Given the description of an element on the screen output the (x, y) to click on. 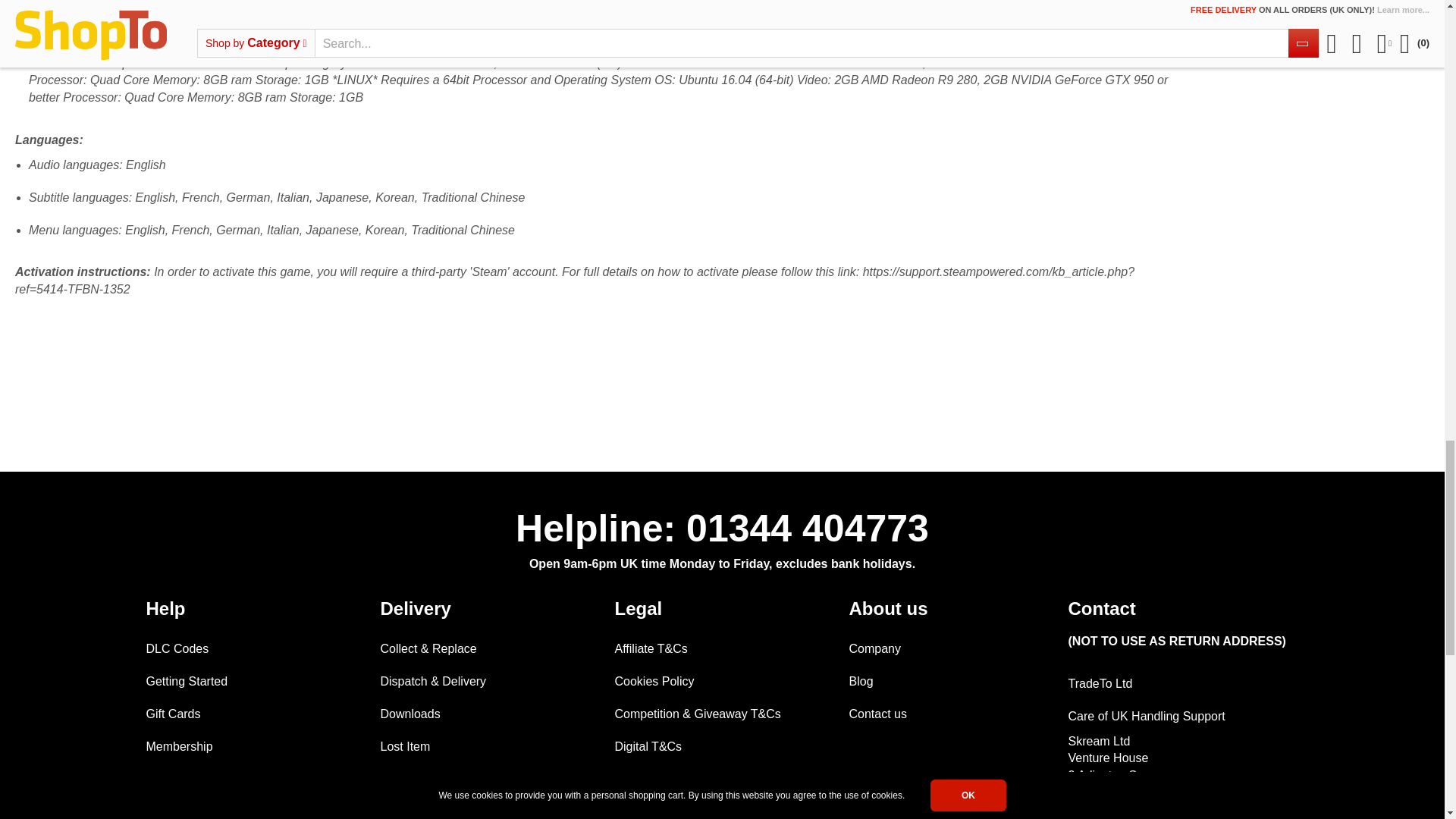
Customer reviews powered by Trustpilot (596, 387)
